Given the description of an element on the screen output the (x, y) to click on. 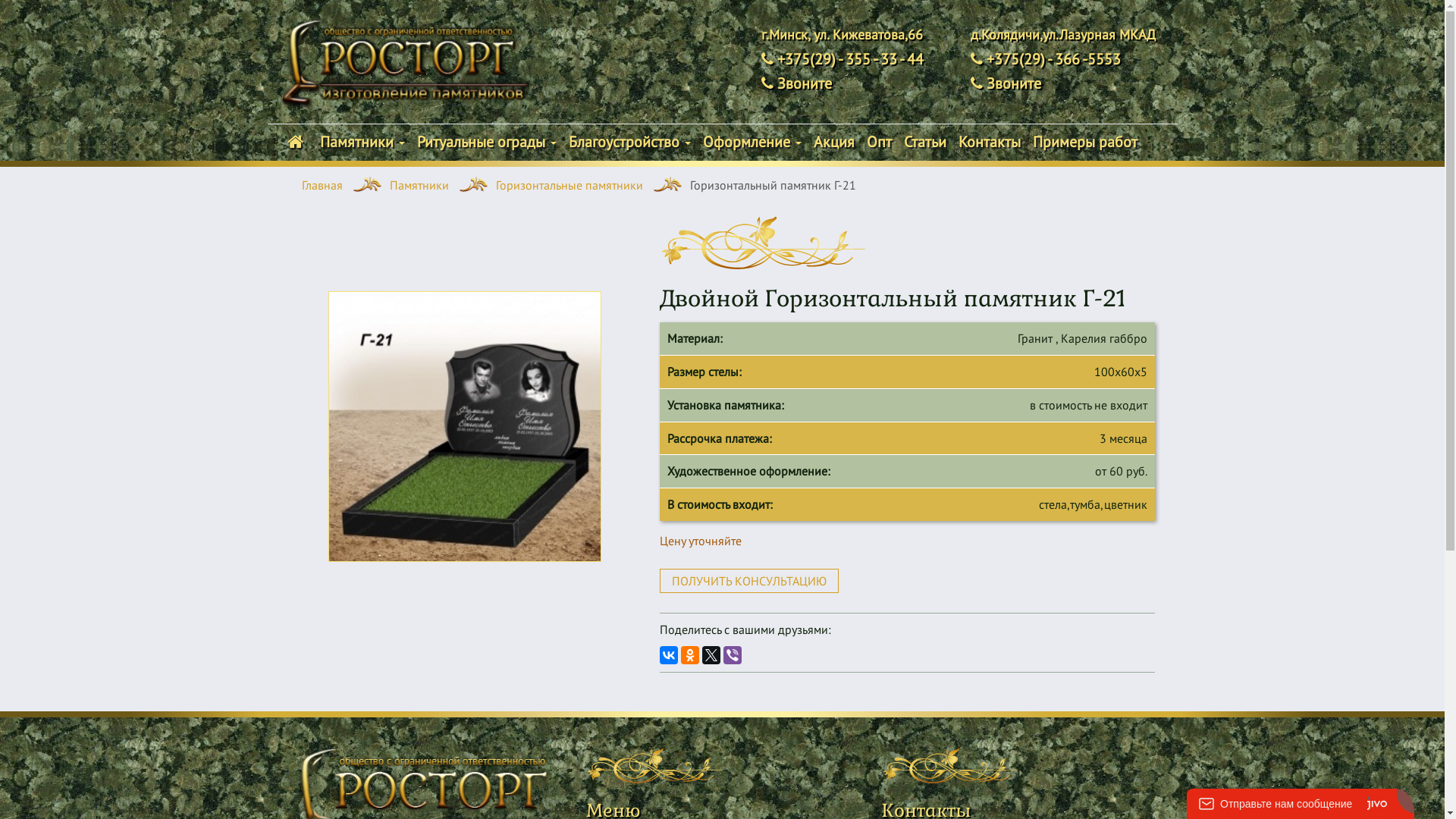
  Element type: text (296, 141)
Viber Element type: hover (732, 655)
Twitter Element type: hover (711, 655)
